Given the description of an element on the screen output the (x, y) to click on. 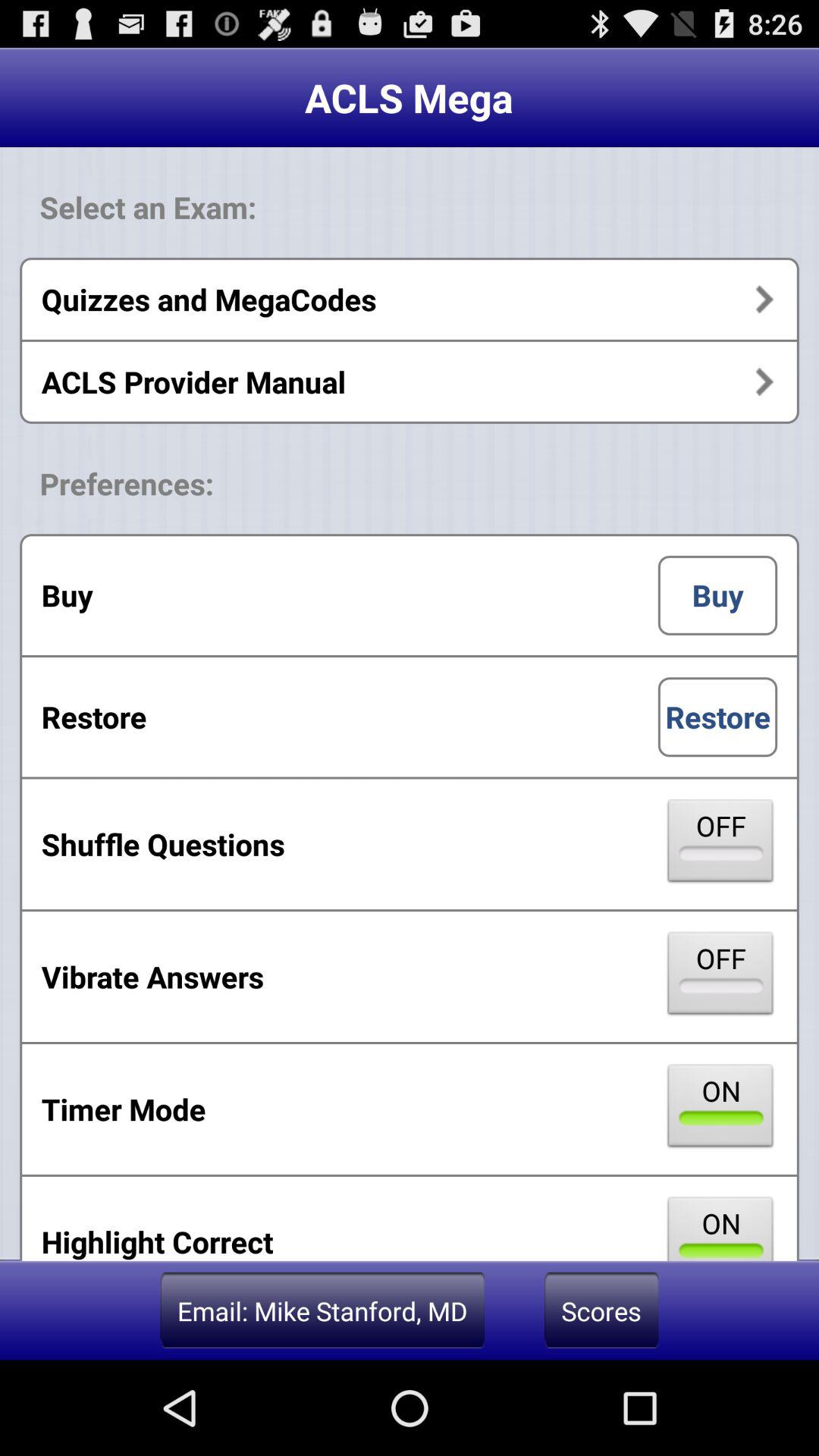
click the quizzes and megacodes (409, 299)
